Given the description of an element on the screen output the (x, y) to click on. 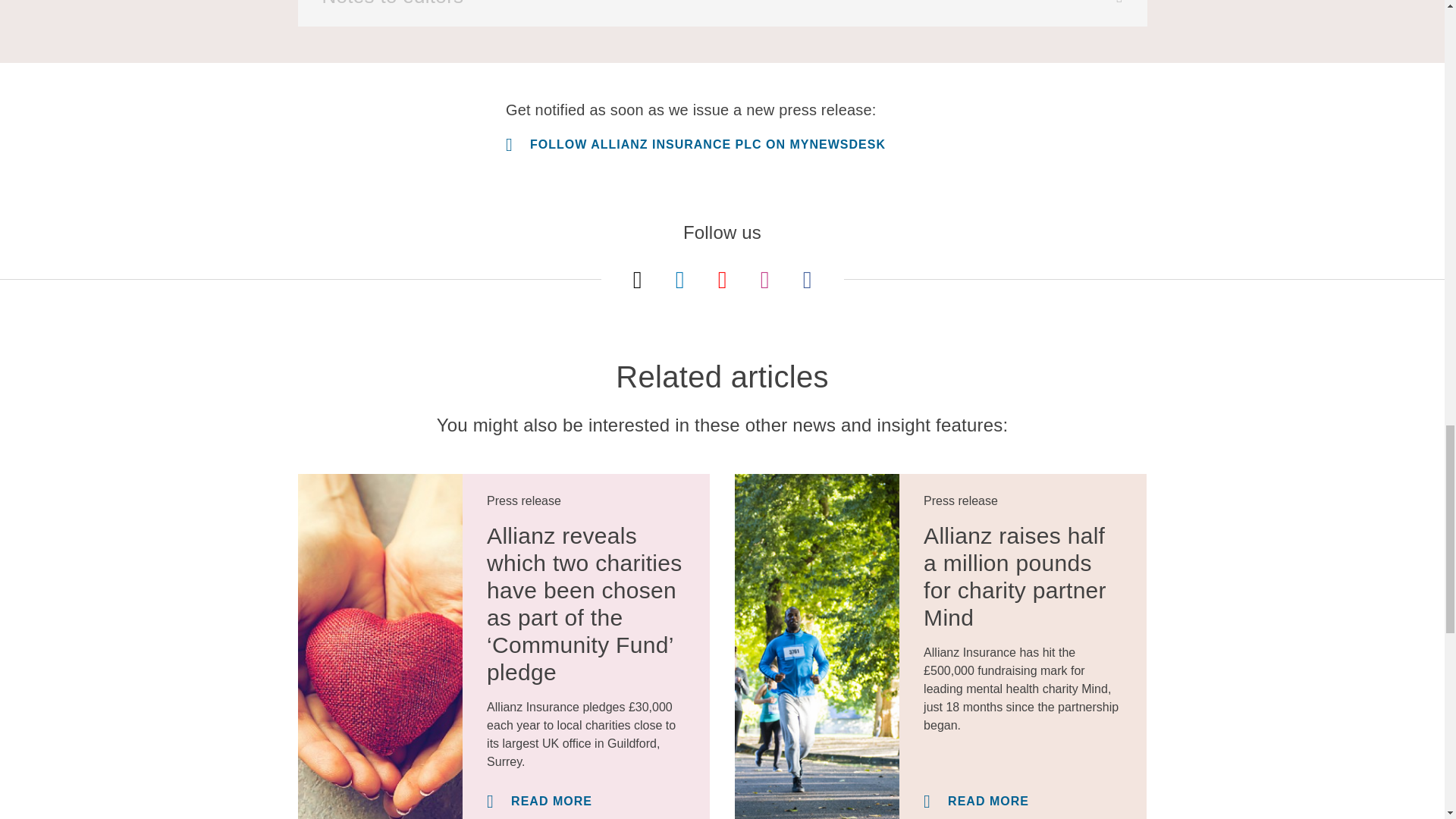
link to Allianz Insurance on Linkedin (678, 279)
link to Allianz broker on X (636, 279)
link to Allianz Insurance on Youtube (721, 279)
Allianz Insurance on Facebook (806, 279)
link to Allianz Insurance on Instagram (764, 279)
